Given the description of an element on the screen output the (x, y) to click on. 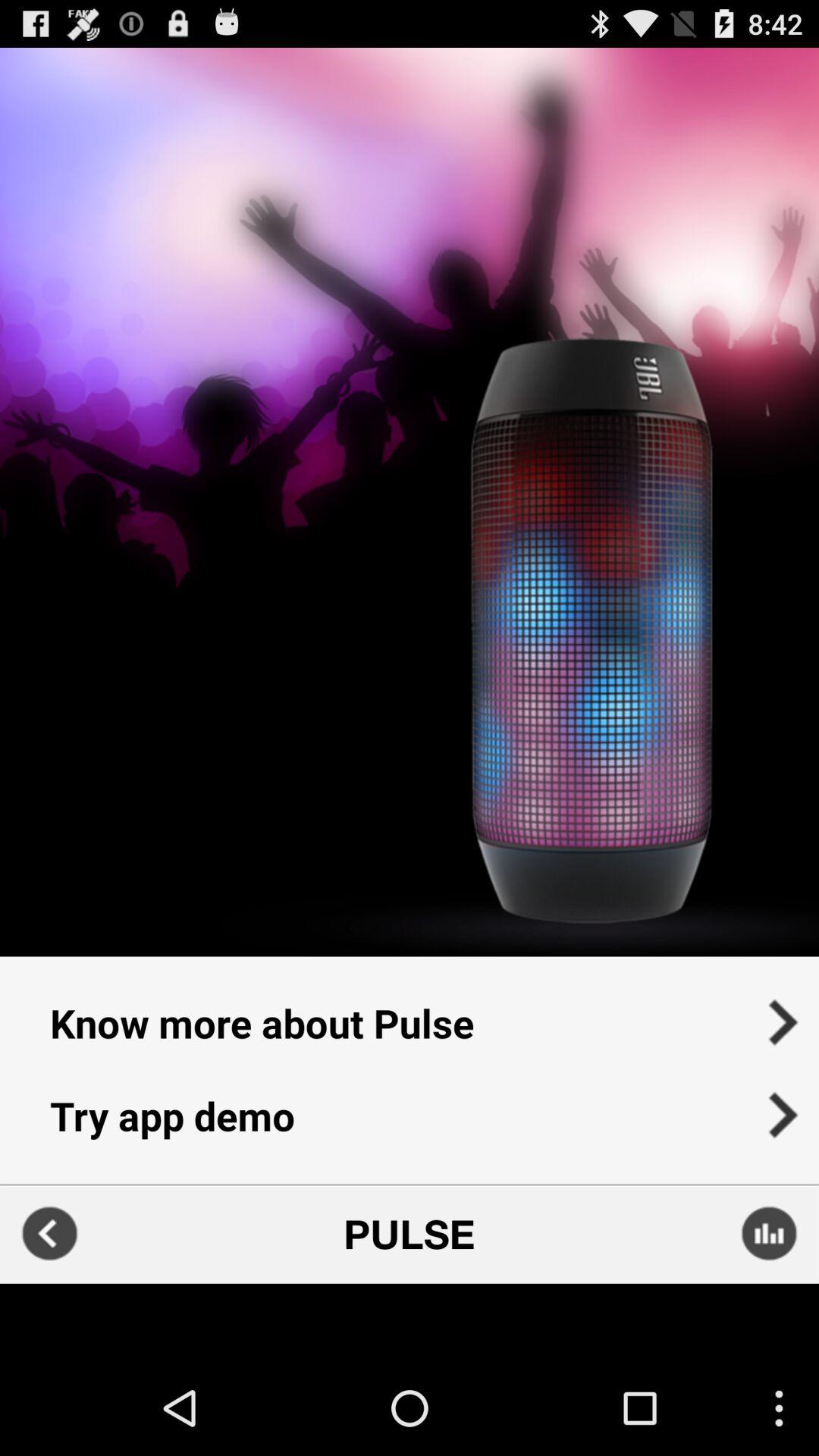
go to previous screen (49, 1233)
